Given the description of an element on the screen output the (x, y) to click on. 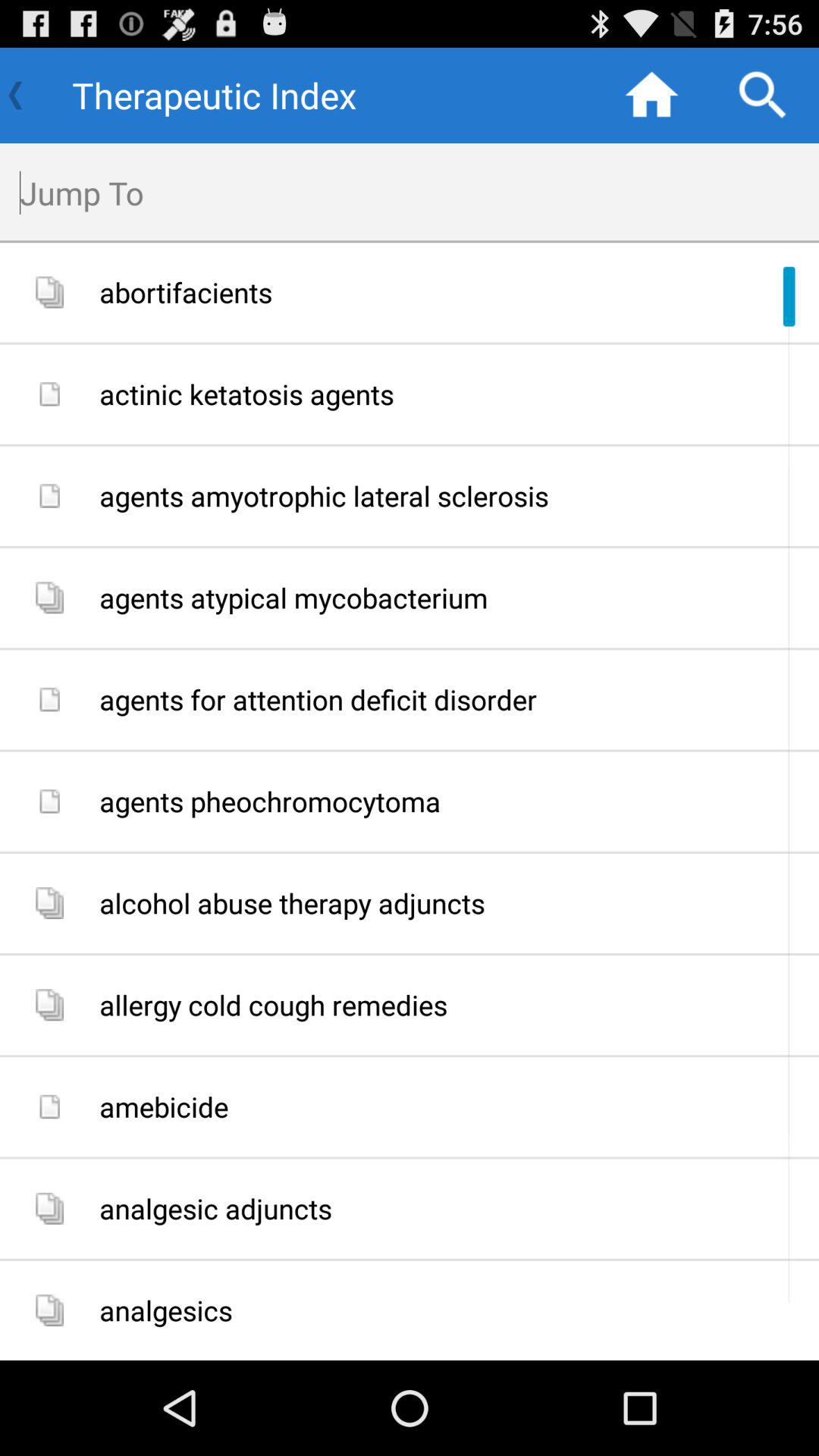
turn on item below agents atypical mycobacterium item (453, 699)
